Given the description of an element on the screen output the (x, y) to click on. 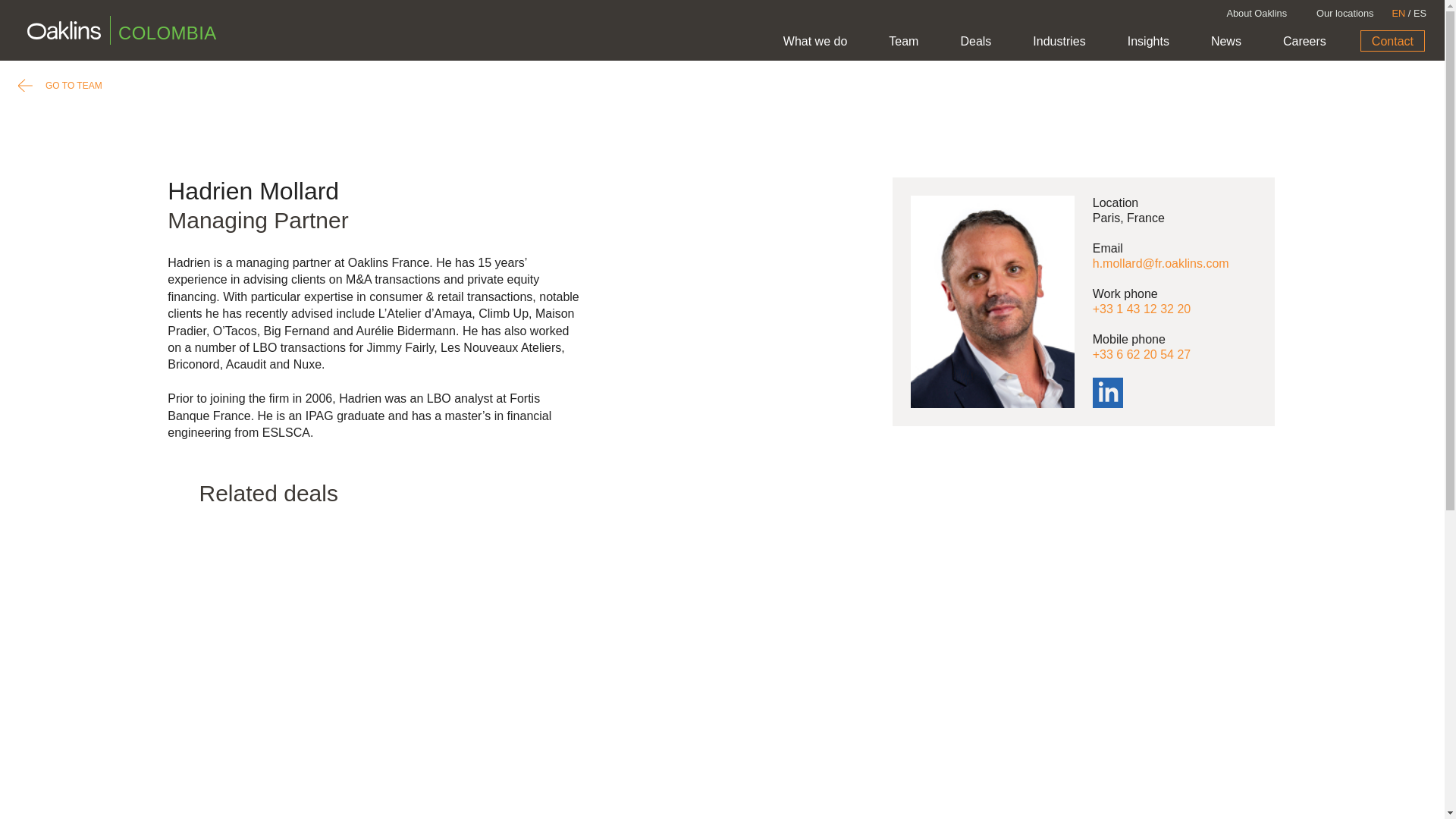
Our locations (1344, 13)
News (1226, 42)
Industries (1059, 42)
Deals (975, 42)
What we do (815, 42)
ES (1419, 12)
GO TO TEAM (59, 85)
EN (1398, 12)
Team (903, 42)
Insights (1147, 42)
Careers (1304, 42)
Contact (1392, 40)
About Oaklins (1256, 13)
